Given the description of an element on the screen output the (x, y) to click on. 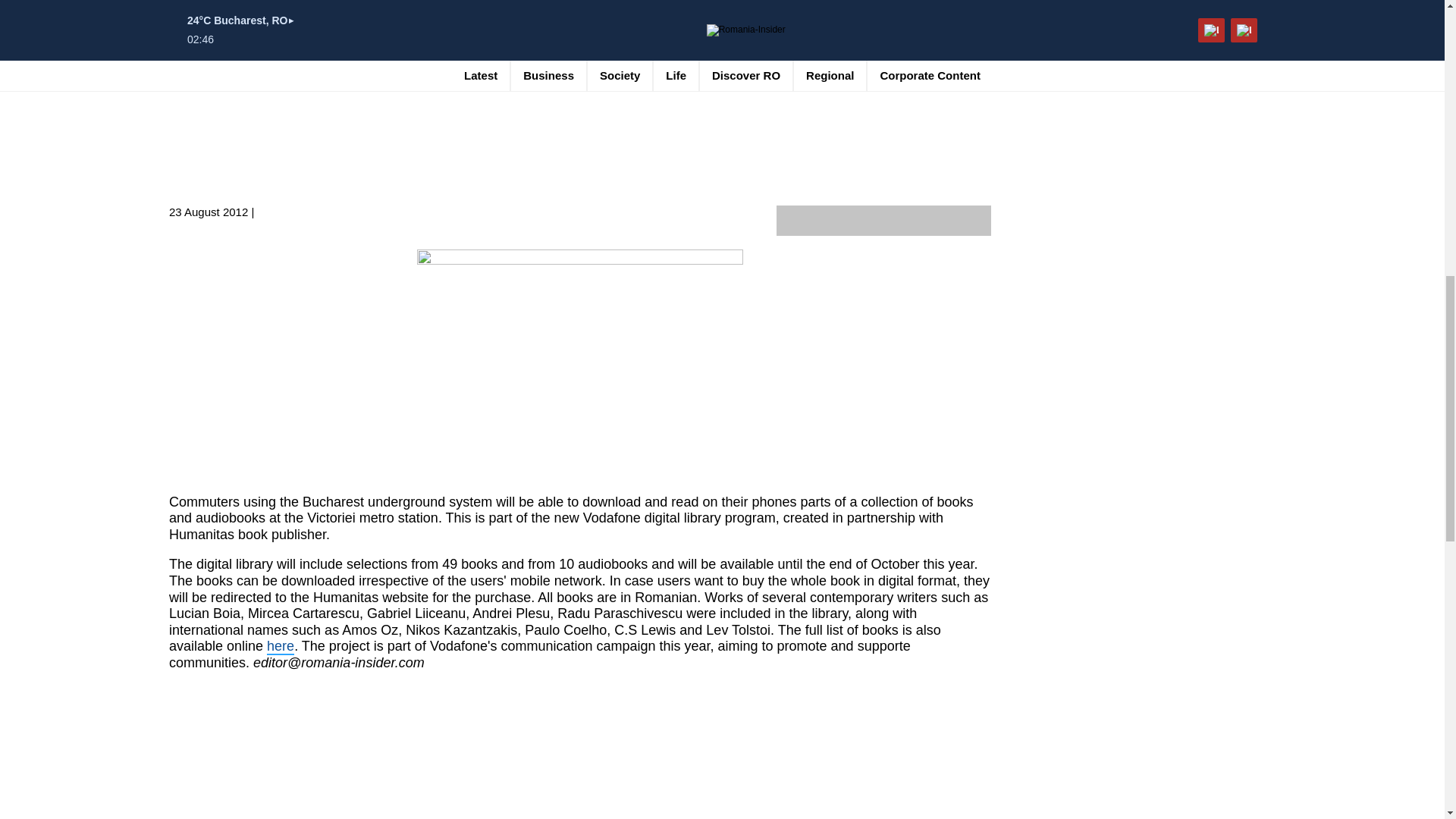
vodafone library (579, 371)
